Given the description of an element on the screen output the (x, y) to click on. 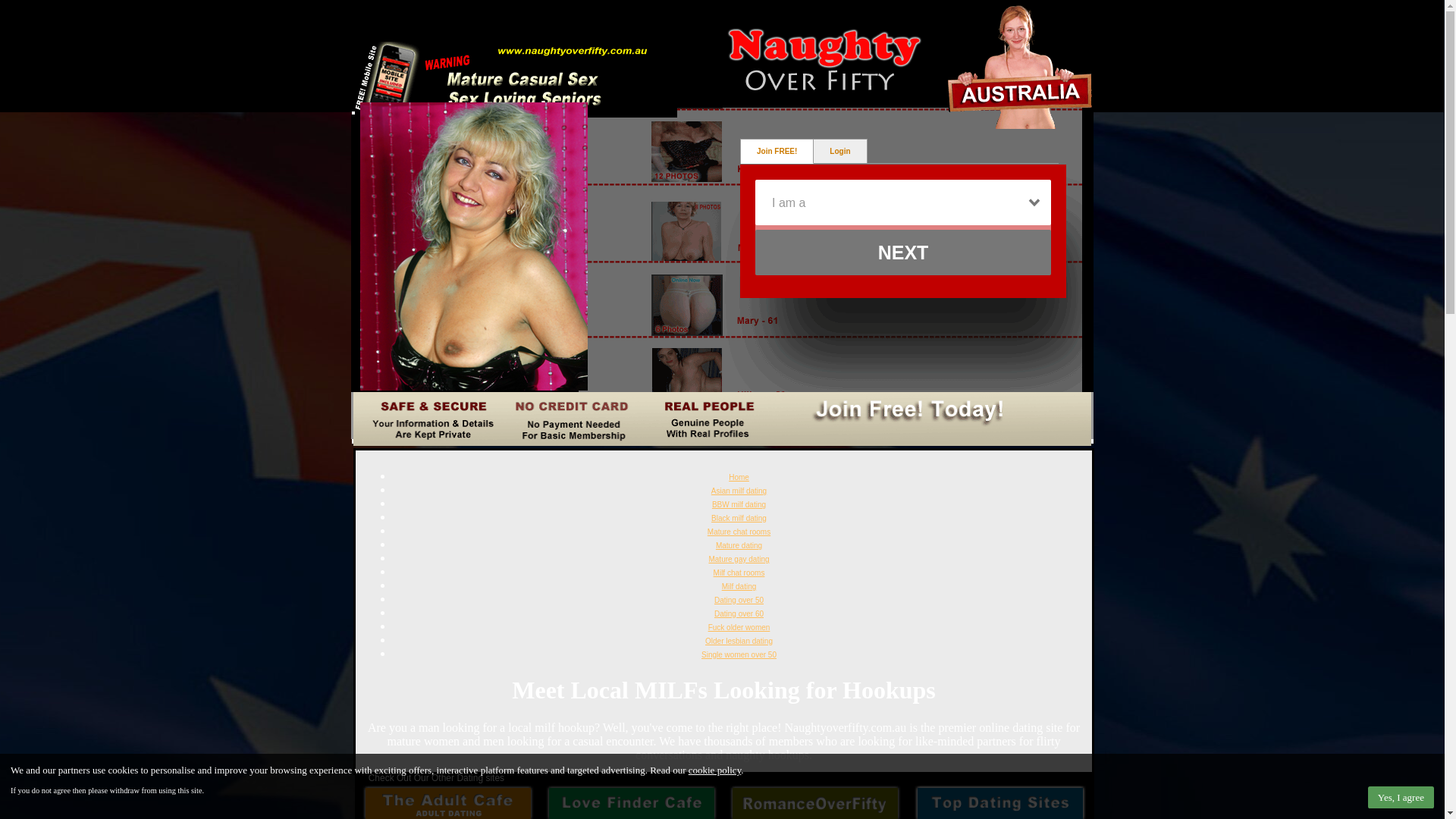
Asian milf dating Element type: text (738, 490)
Single women over 50 Element type: text (738, 654)
Home Element type: text (738, 477)
Milf chat rooms Element type: text (739, 572)
Dating over 60 Element type: text (738, 613)
Mature dating Element type: text (738, 545)
Mature chat rooms Element type: text (738, 531)
Casual Dating Element type: hover (721, 56)
BBW milf dating Element type: text (738, 504)
Fuck older women Element type: text (739, 627)
Yes, I agree Element type: text (1401, 797)
Milf dating Element type: text (738, 586)
mature hookup Element type: text (432, 795)
Black milf dating Element type: text (738, 518)
Older lesbian dating Element type: text (738, 641)
NEXT Element type: text (903, 252)
Dating over 50 Element type: text (738, 600)
cookie policy Element type: text (714, 769)
Mature gay dating Element type: text (738, 559)
